Given the description of an element on the screen output the (x, y) to click on. 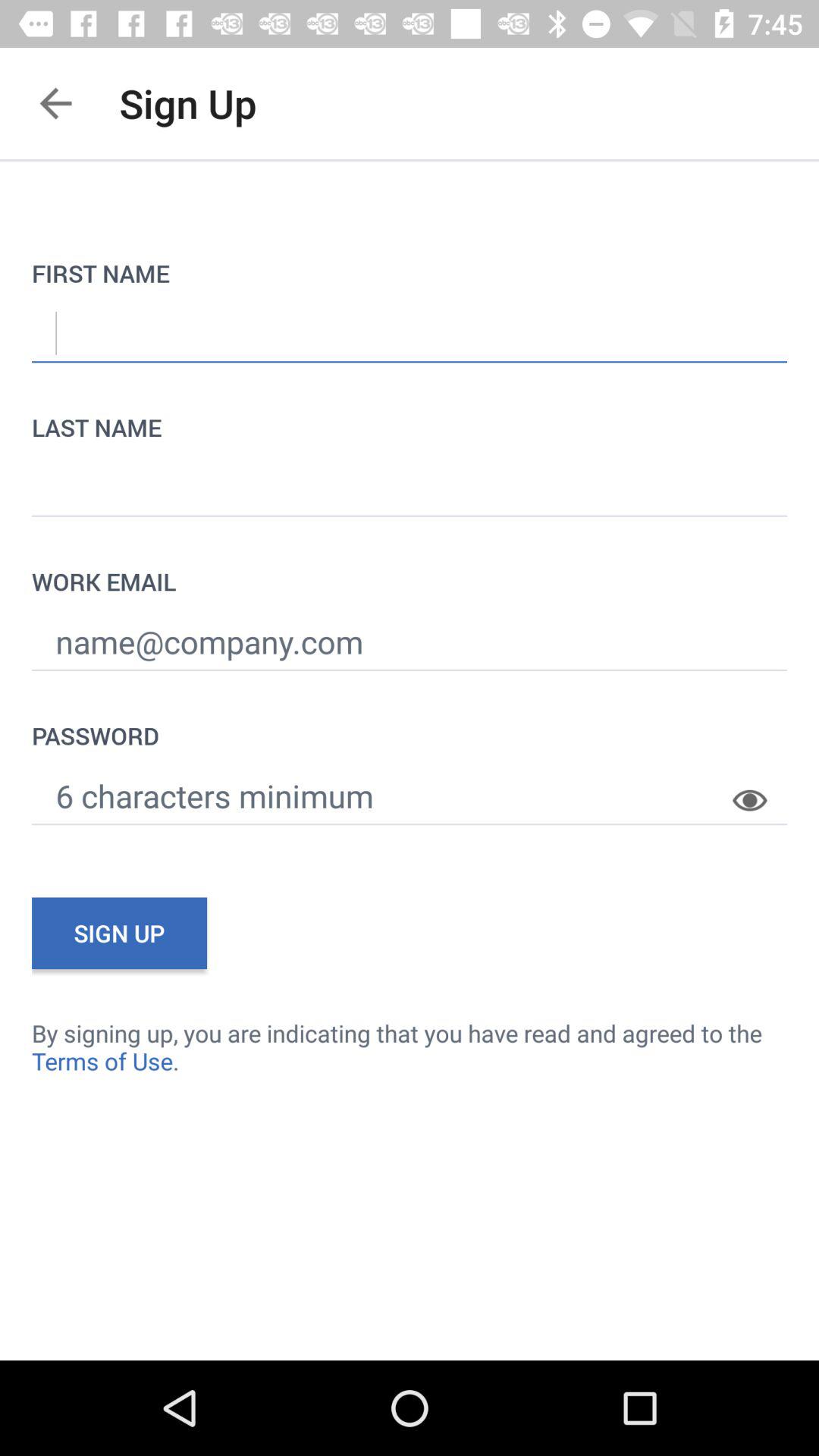
flip until by signing up (409, 1046)
